Given the description of an element on the screen output the (x, y) to click on. 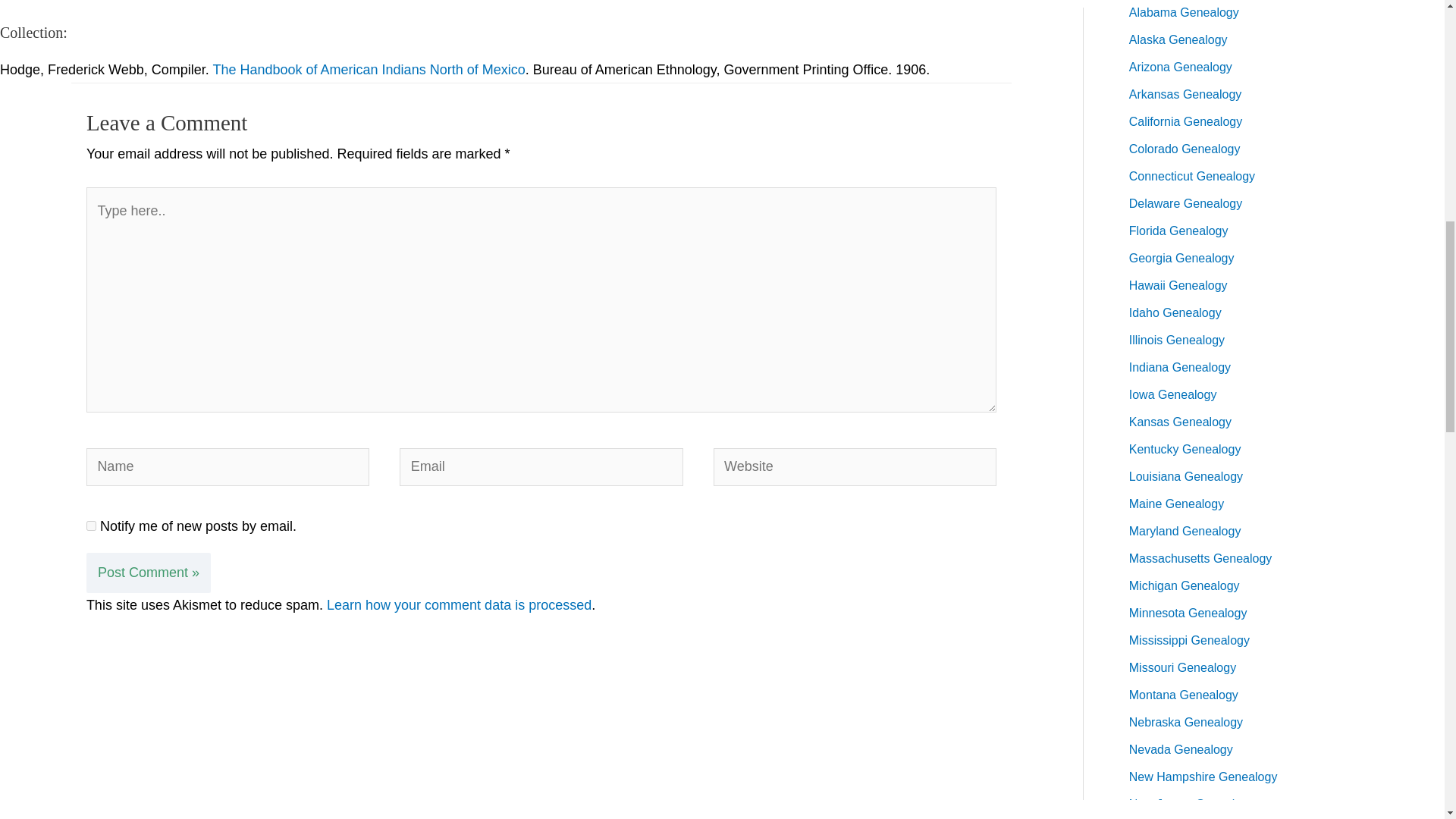
Illinois Genealogy (1176, 339)
Alaska Genealogy (1178, 39)
Delaware Genealogy (1185, 203)
Georgia Genealogy (1181, 257)
subscribe (90, 525)
Connecticut Genealogy (1192, 175)
Florida Genealogy (1178, 230)
Hawaii Genealogy (1178, 285)
Arizona Genealogy (1180, 66)
The Handbook of American Indians North of Mexico (368, 69)
